Given the description of an element on the screen output the (x, y) to click on. 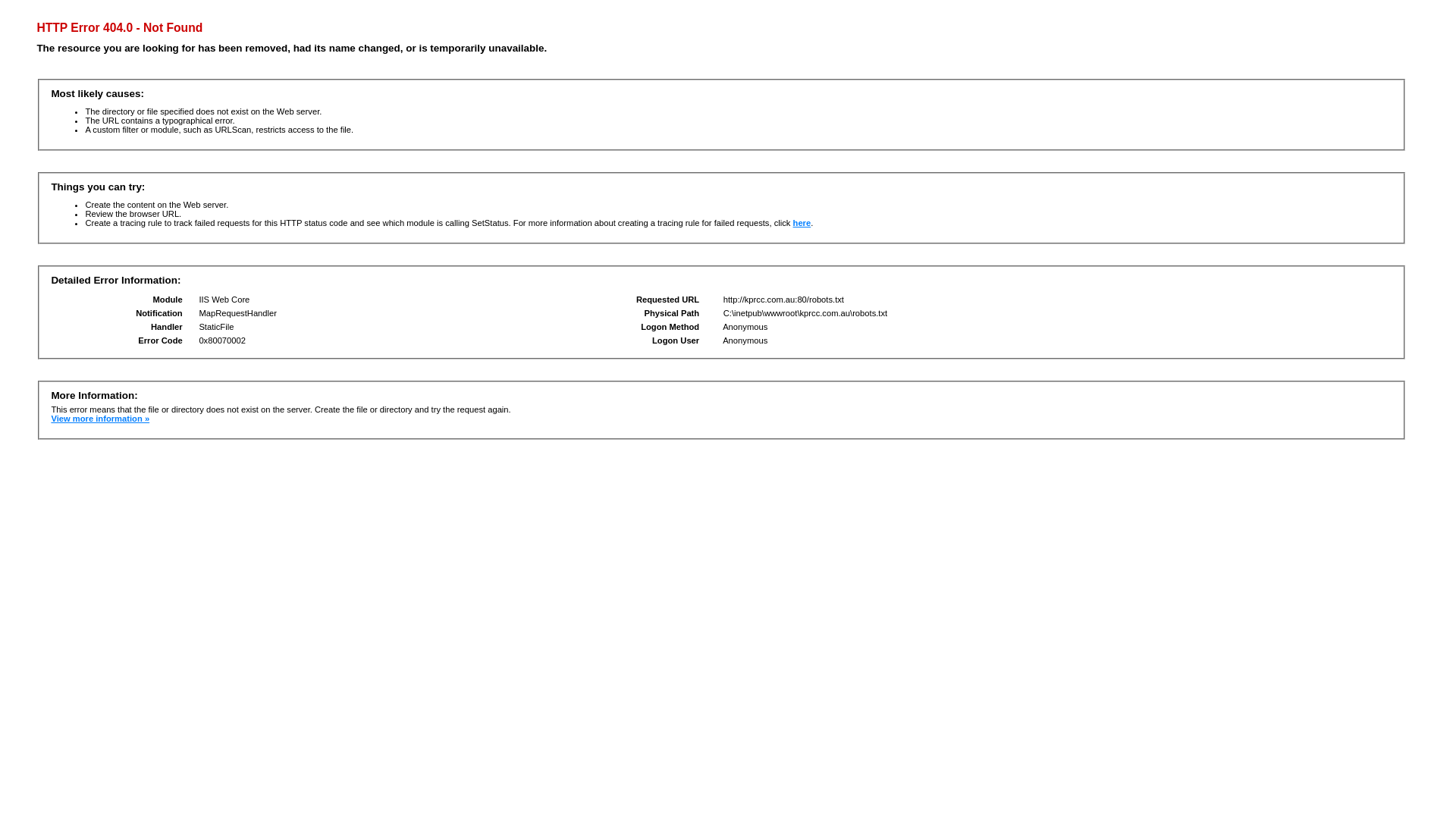
here Element type: text (802, 222)
